Given the description of an element on the screen output the (x, y) to click on. 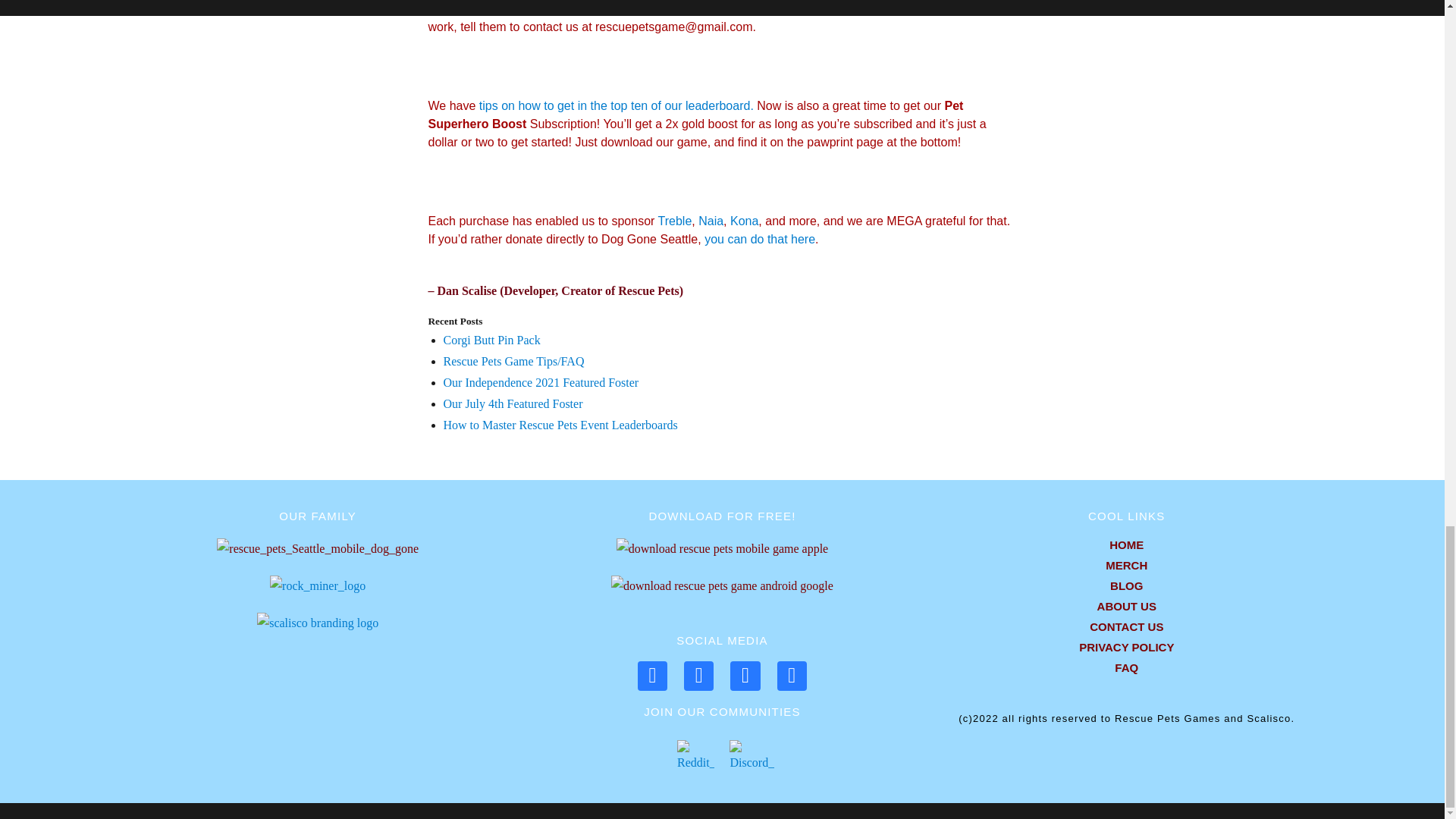
BLOG (1125, 585)
MERCH (1125, 565)
ABOUT US (1125, 606)
How to Master Rescue Pets Event Leaderboards (559, 424)
FAQ (1125, 667)
tips on how to get in the top ten of our leaderboard. (618, 105)
Naia (710, 220)
you can do that here (759, 238)
HOME (1125, 544)
google-play-badge (721, 586)
CONTACT US (1125, 626)
Our July 4th Featured Foster (512, 403)
Treble (675, 220)
PRIVACY POLICY (1125, 647)
Corgi Butt Pin Pack (491, 339)
